Given the description of an element on the screen output the (x, y) to click on. 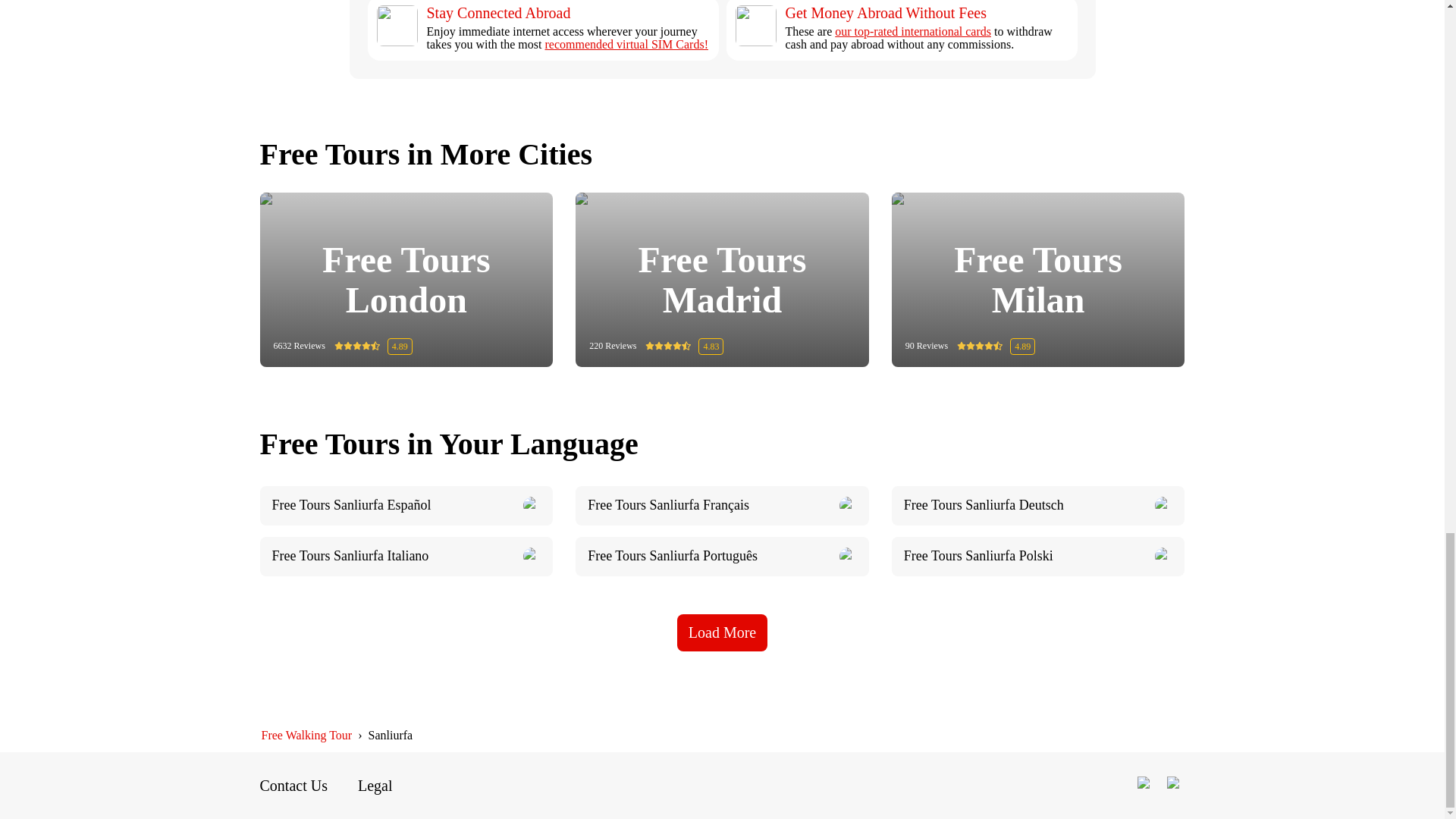
Free Tours London (405, 279)
Free Walking Tour (306, 735)
Free Tours Sanliurfa Polski (1038, 556)
Free Tours Sanliurfa Deutsch (1038, 505)
Free Tours Milan (1038, 279)
Load More (722, 632)
recommended virtual SIM Cards! (625, 43)
Free Tours Madrid (722, 279)
Free Tours Sanliurfa Italiano (406, 556)
our top-rated international cards (912, 31)
